Given the description of an element on the screen output the (x, y) to click on. 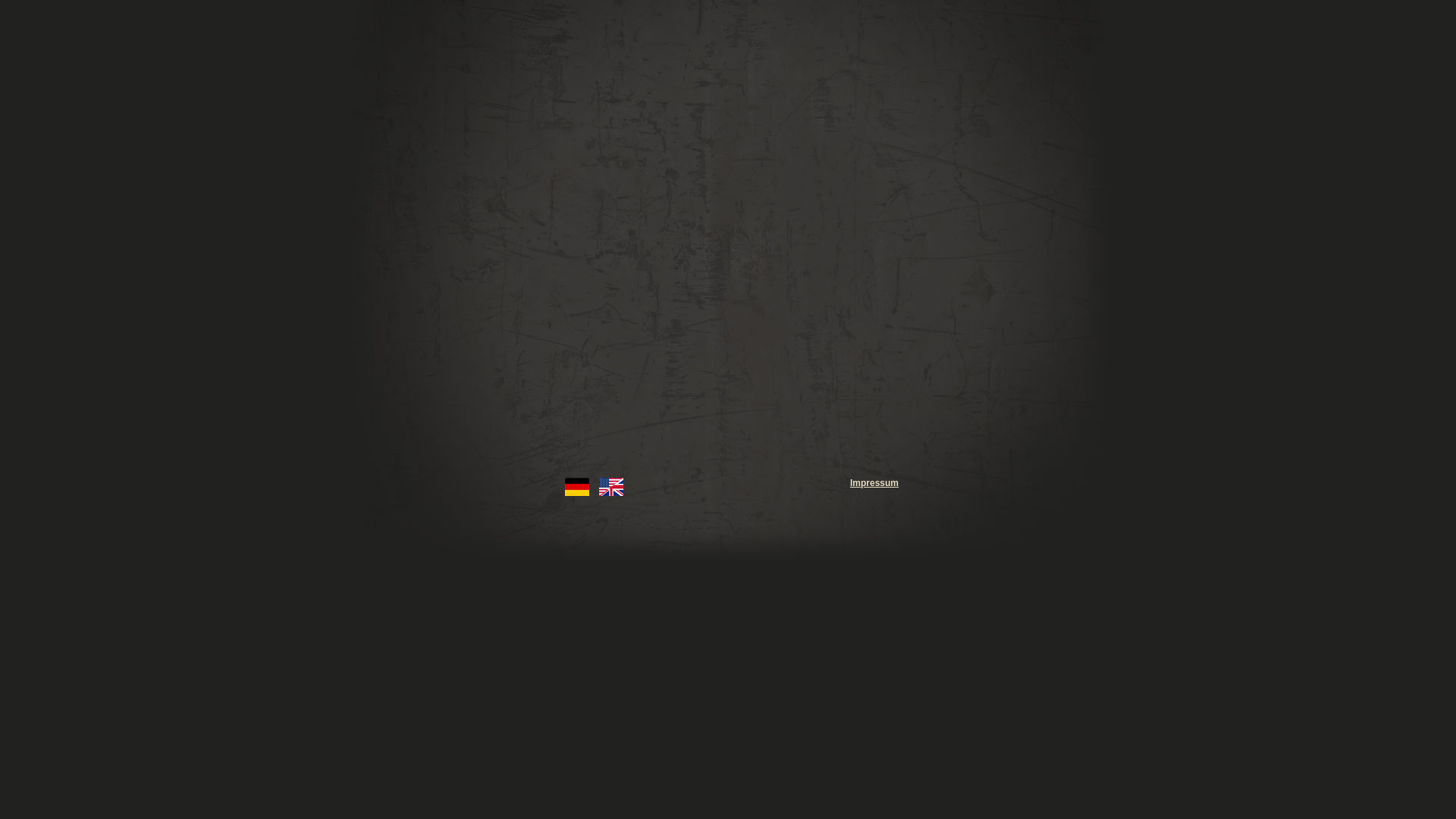
  Element type: text (819, 284)
Impressum Element type: text (874, 482)
  Element type: text (645, 284)
